Given the description of an element on the screen output the (x, y) to click on. 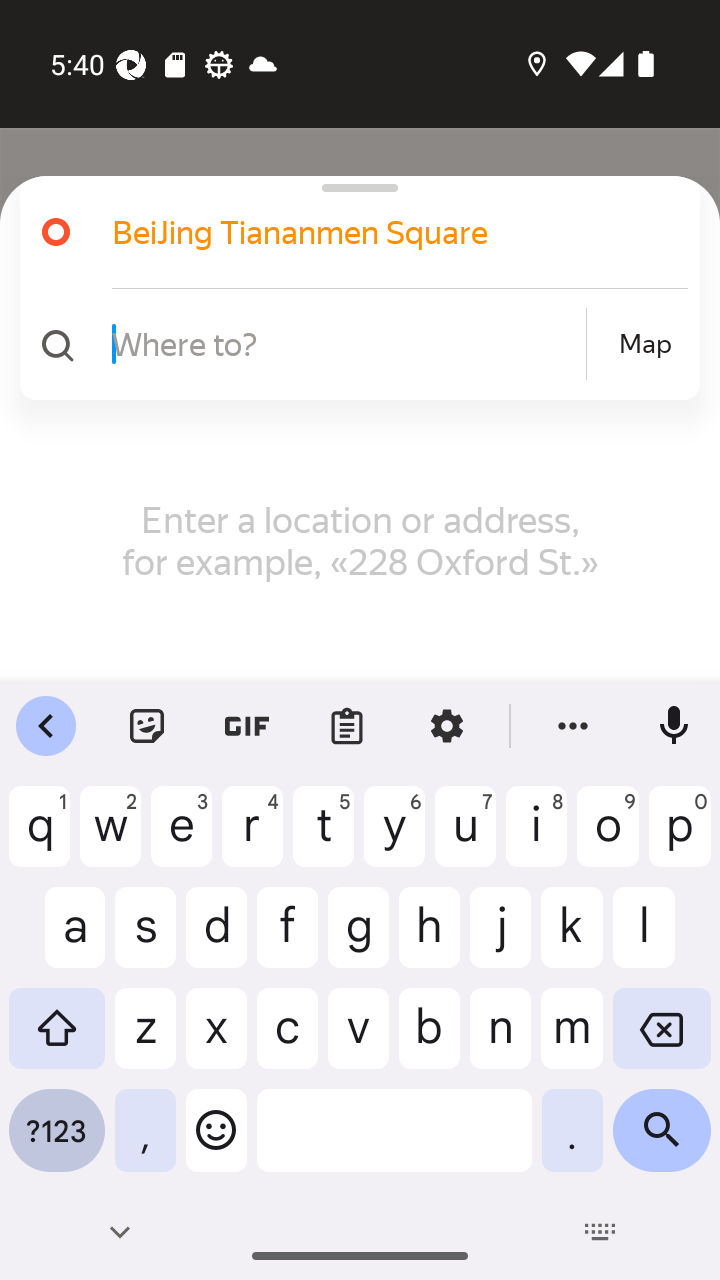
BeiJing Tiananmen Square (352, 232)
BeiJing Tiananmen Square (373, 232)
Where to? Map Map (352, 343)
Map (645, 343)
Where to? (346, 343)
